Given the description of an element on the screen output the (x, y) to click on. 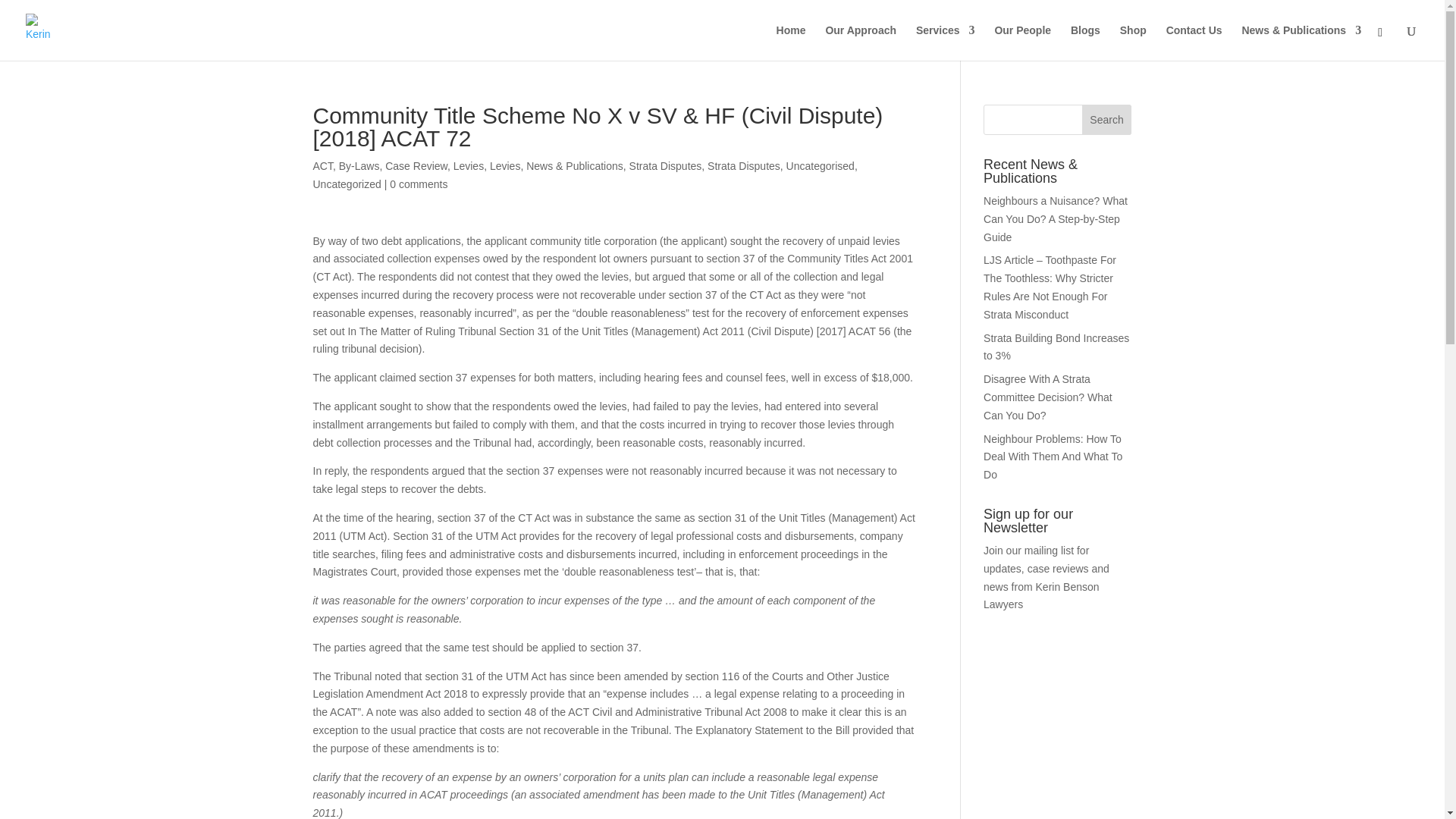
Contact Us (1194, 42)
By-Laws (359, 165)
Levies (504, 165)
Our People (1022, 42)
Services (945, 42)
Levies (467, 165)
Case Review (415, 165)
ACT (322, 165)
Search (1106, 119)
Our Approach (860, 42)
